Given the description of an element on the screen output the (x, y) to click on. 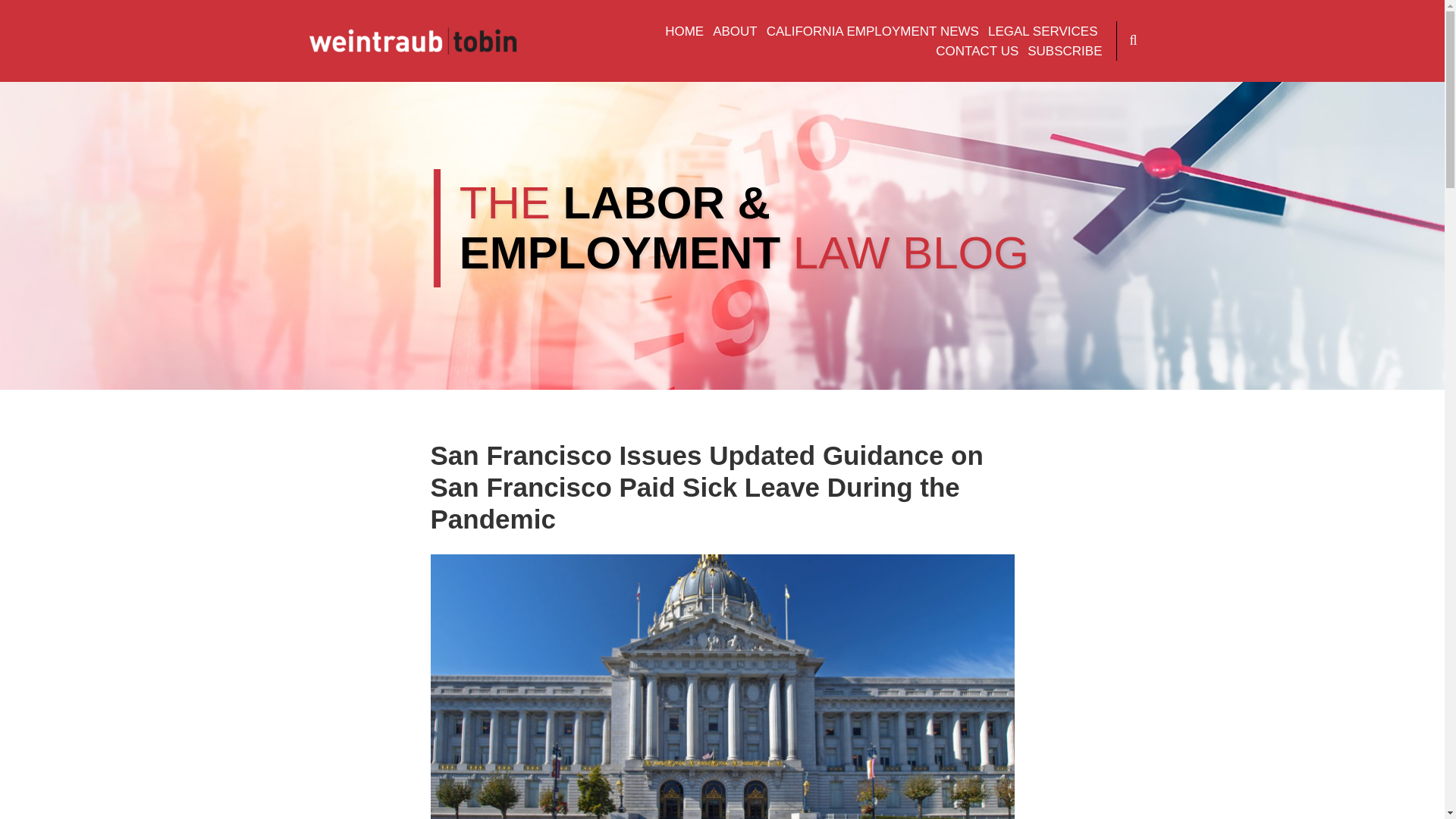
SUBSCRIBE (1064, 51)
LEGAL SERVICES (1042, 31)
ABOUT (735, 31)
CALIFORNIA EMPLOYMENT NEWS (872, 31)
HOME (684, 31)
CONTACT US (976, 51)
